Given the description of an element on the screen output the (x, y) to click on. 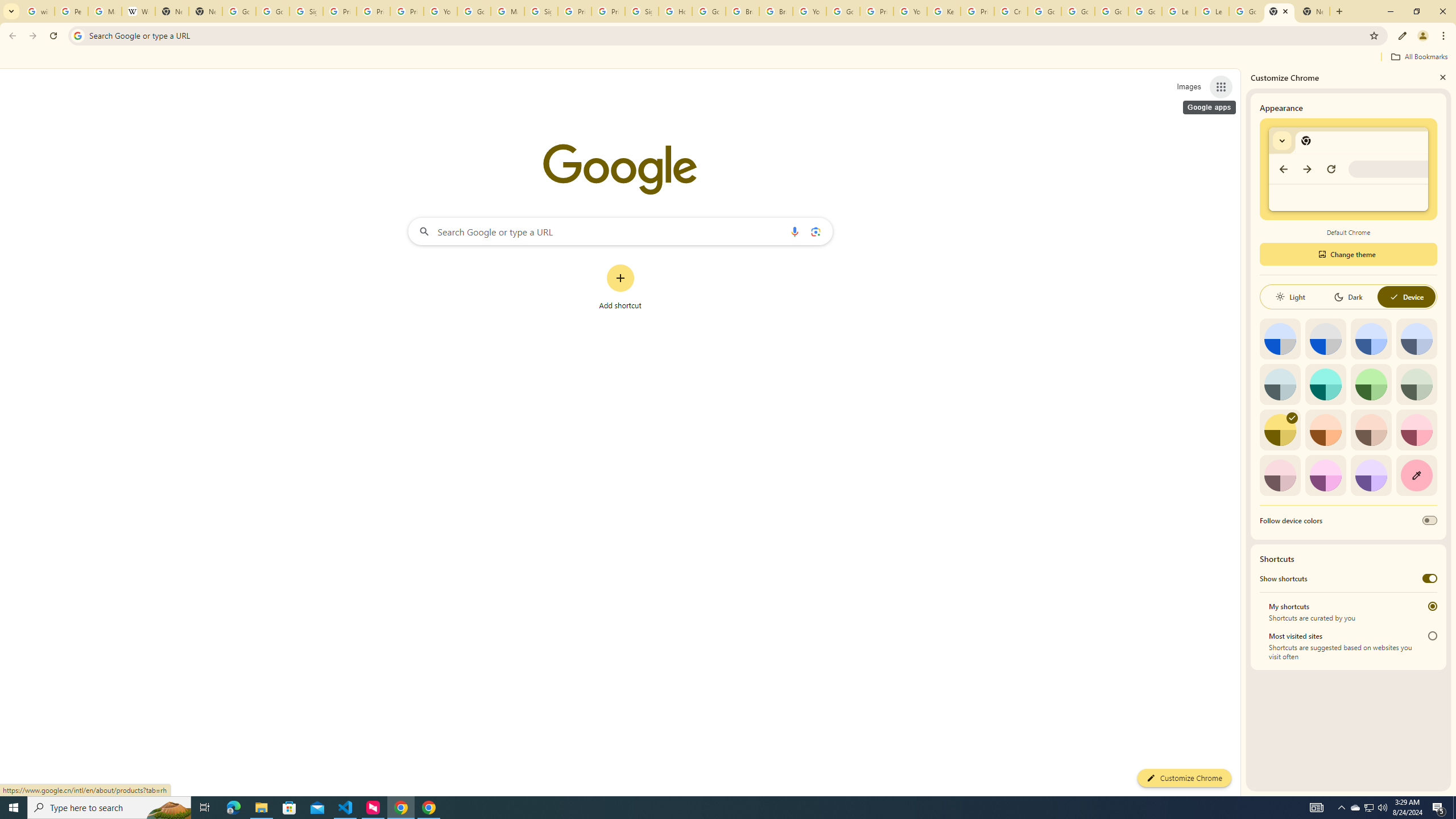
Grey default color (1325, 338)
Grey (1279, 383)
Follow device colors (1429, 519)
Pink (1279, 475)
YouTube (809, 11)
Device (1406, 296)
Violet (1371, 475)
Viridian (1416, 383)
Most visited sites (1432, 635)
Sign in - Google Accounts (541, 11)
